Given the description of an element on the screen output the (x, y) to click on. 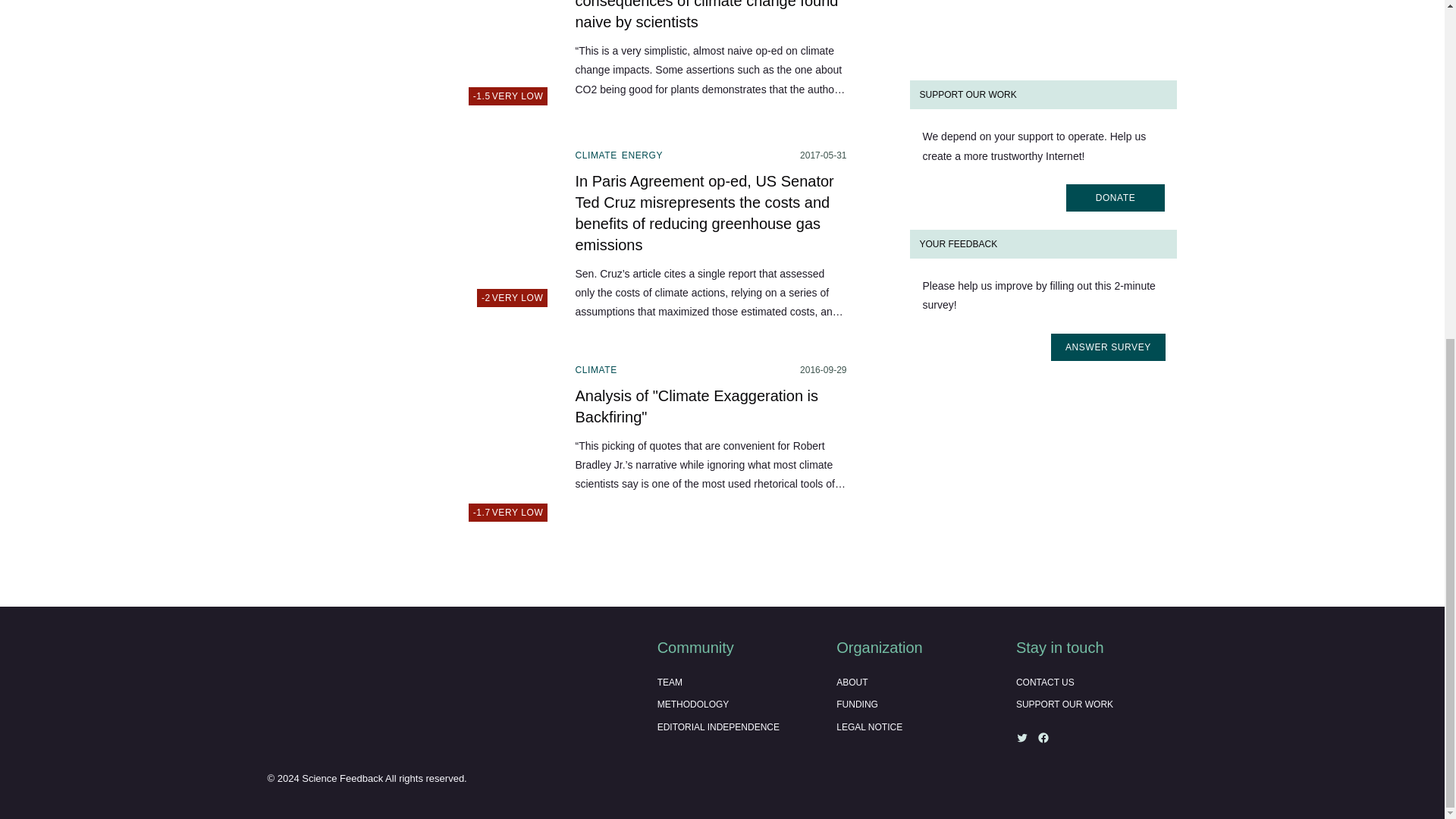
ANSWER SURVEY (411, 232)
DONATE (411, 447)
Analysis of "Climate Exaggeration is Backfiring" (411, 58)
